Given the description of an element on the screen output the (x, y) to click on. 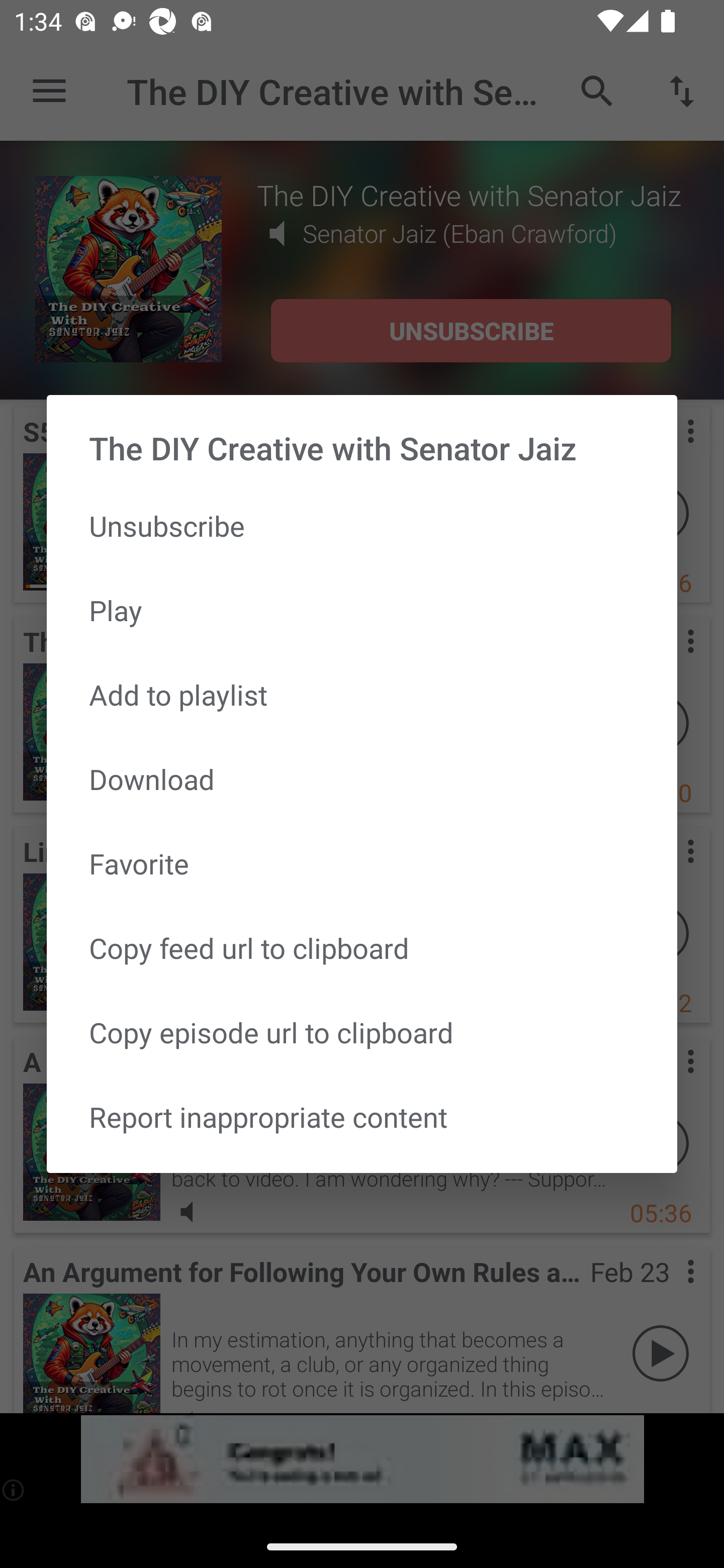
Unsubscribe (361, 524)
Play (361, 609)
Add to playlist (361, 694)
Download (361, 778)
Favorite (361, 863)
Copy feed url to clipboard (361, 947)
Copy episode url to clipboard (361, 1031)
Report inappropriate content (361, 1116)
